Given the description of an element on the screen output the (x, y) to click on. 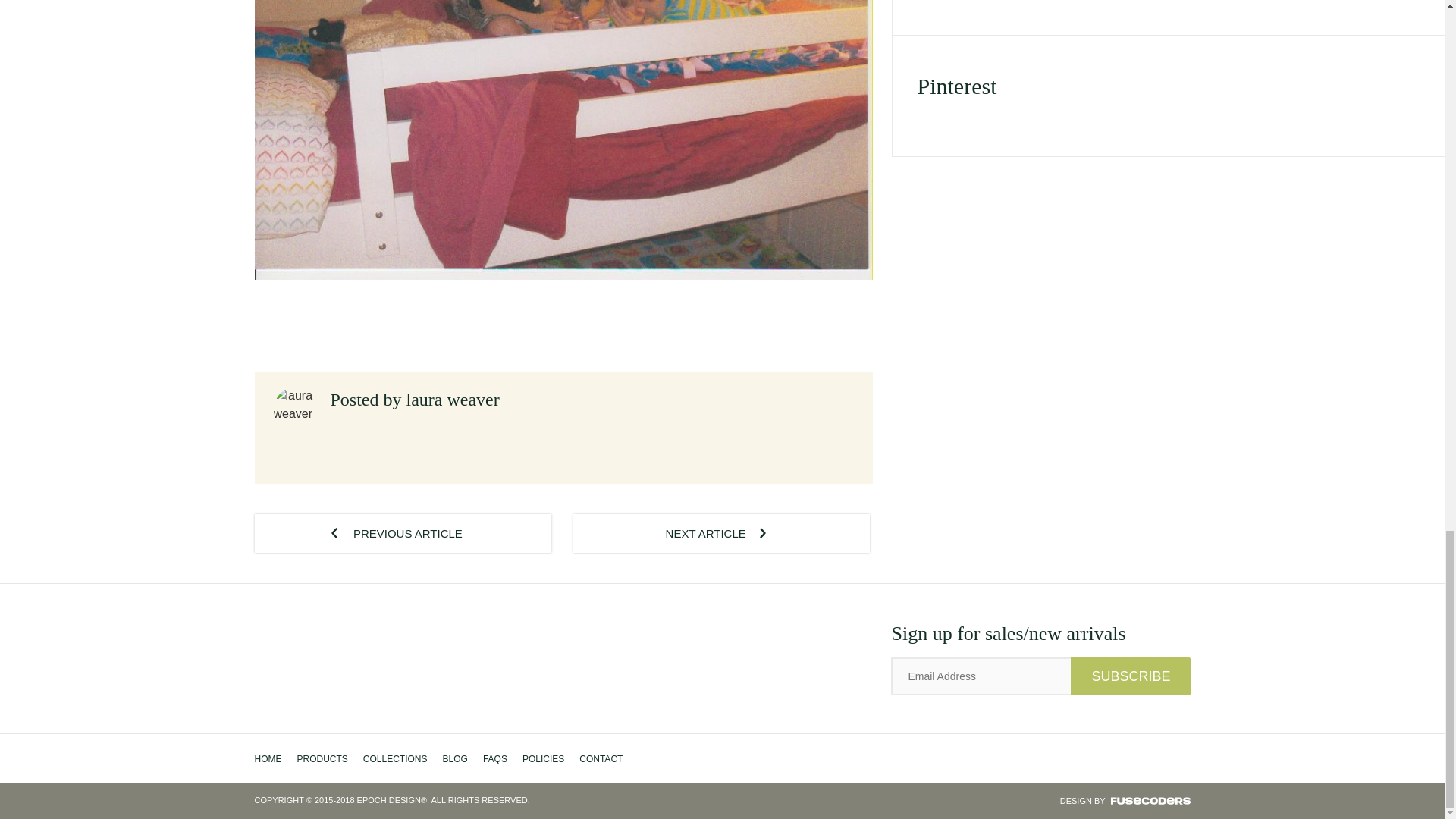
Next Article (721, 533)
Subscribe (1130, 676)
Previous Article (402, 533)
